Given the description of an element on the screen output the (x, y) to click on. 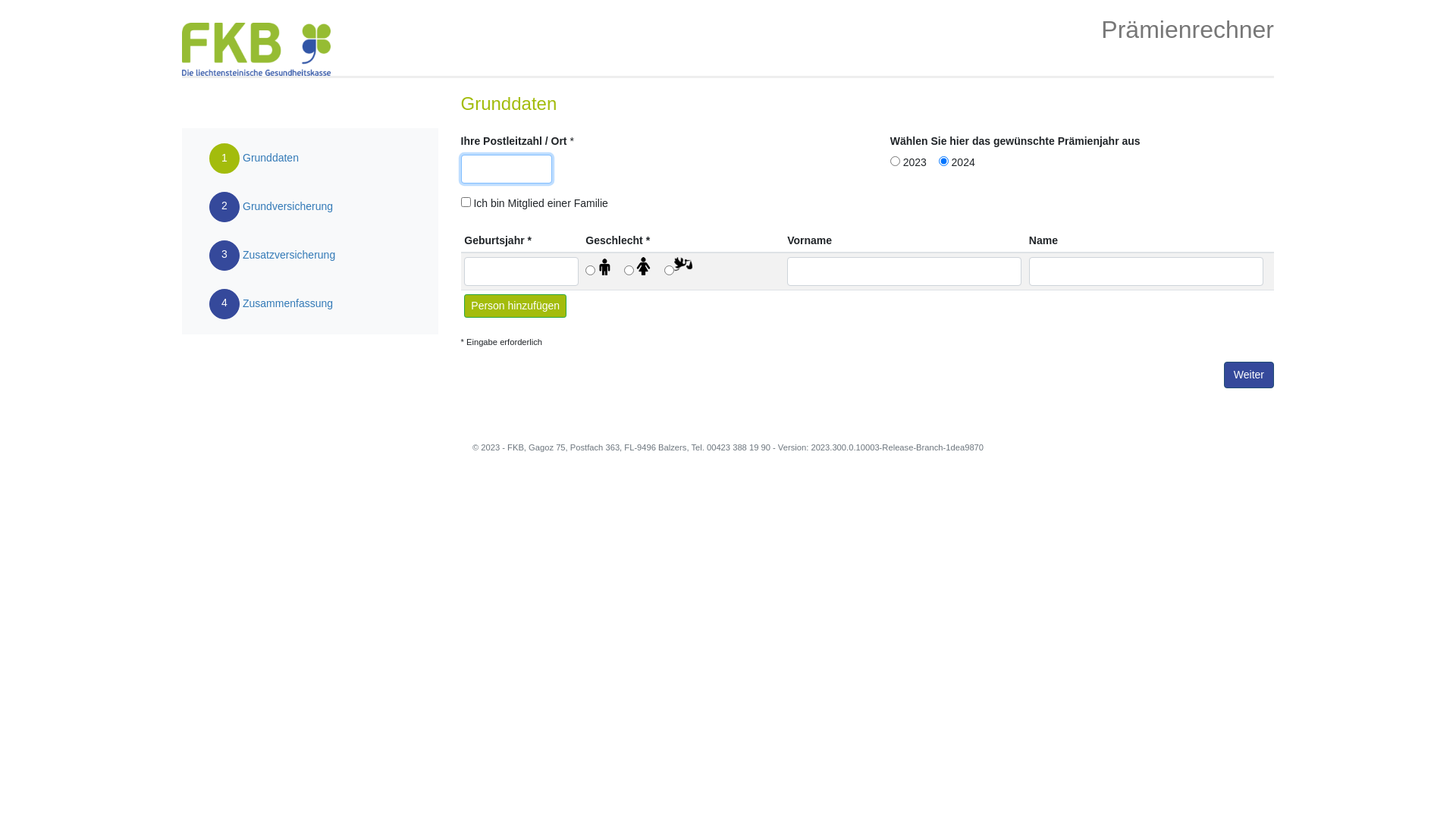
3Zusatzversicherung Element type: text (270, 255)
2Grundversicherung Element type: text (270, 206)
4Zusammenfassung Element type: text (270, 303)
Weiter Element type: text (1248, 374)
weiblich Element type: hover (638, 268)
ungeborenes Kind Element type: hover (678, 268)
1Grunddaten Element type: text (270, 158)
